Given the description of an element on the screen output the (x, y) to click on. 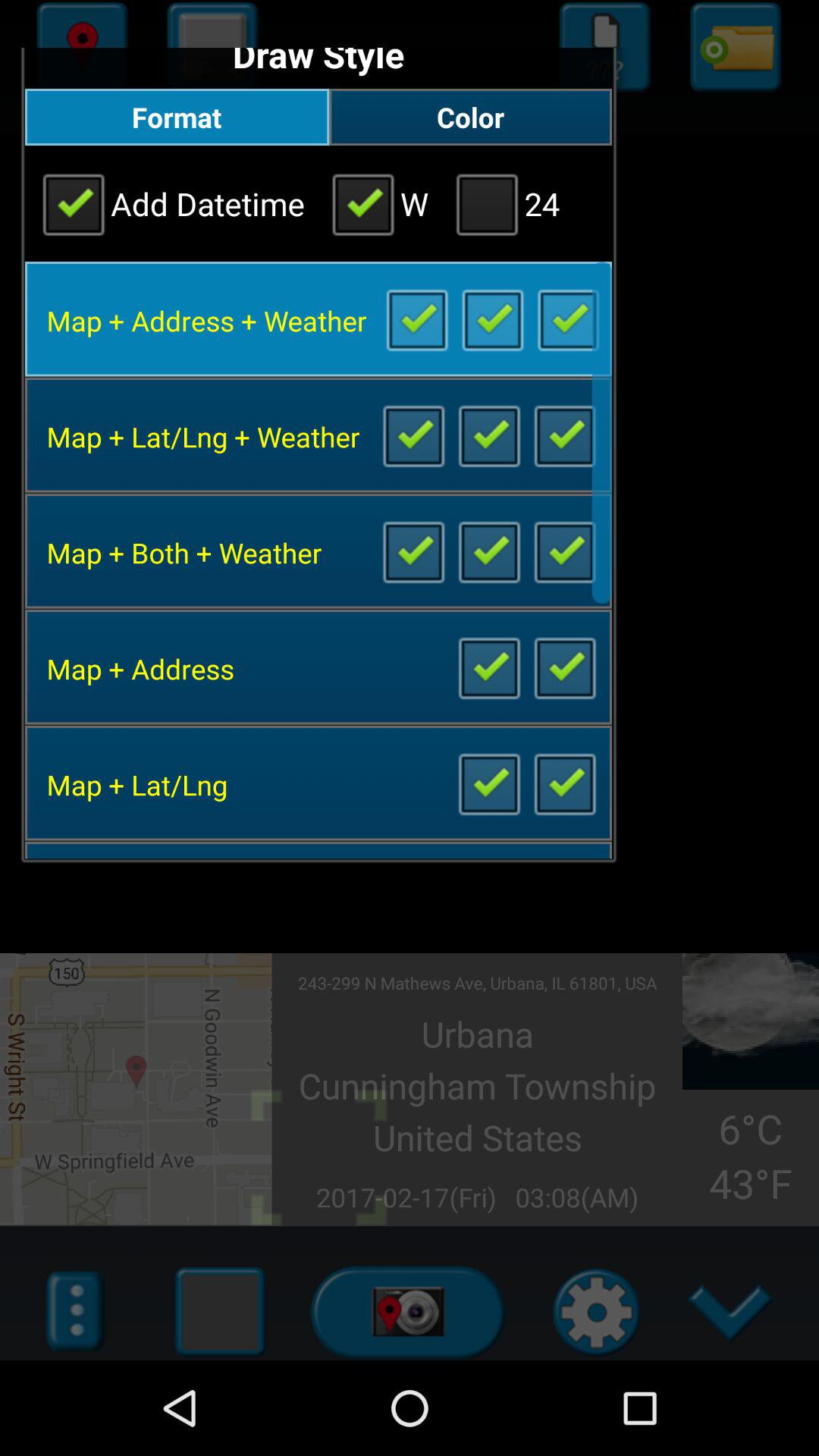
select option (564, 550)
